Given the description of an element on the screen output the (x, y) to click on. 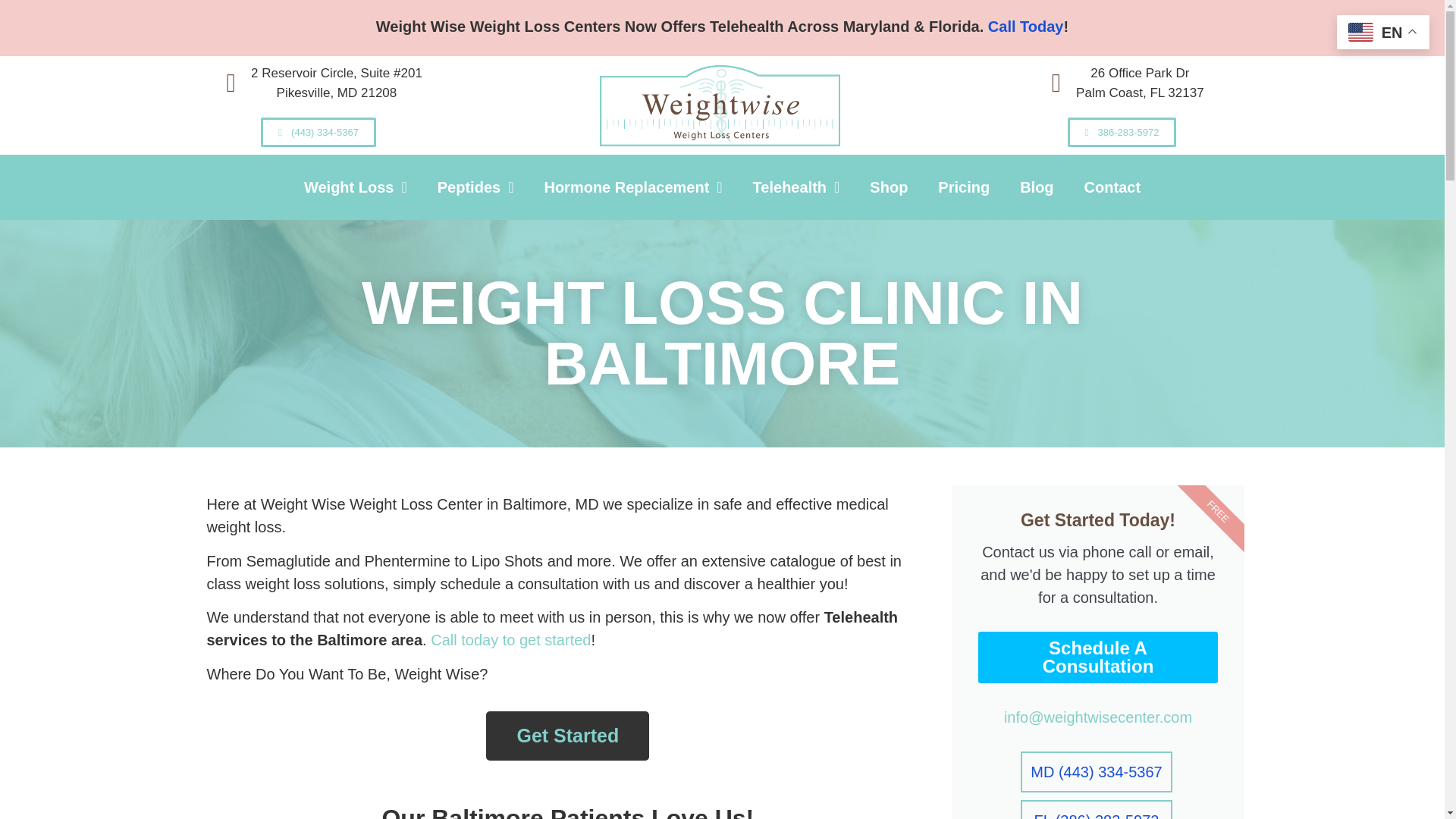
Peptides (475, 186)
Weight Loss (355, 186)
Telehealth (797, 186)
Contact (1112, 186)
Hormone Replacement (632, 186)
Shop (888, 186)
Pricing (963, 186)
Call Today (1026, 26)
386-283-5972 (1121, 132)
Blog (1036, 186)
